Given the description of an element on the screen output the (x, y) to click on. 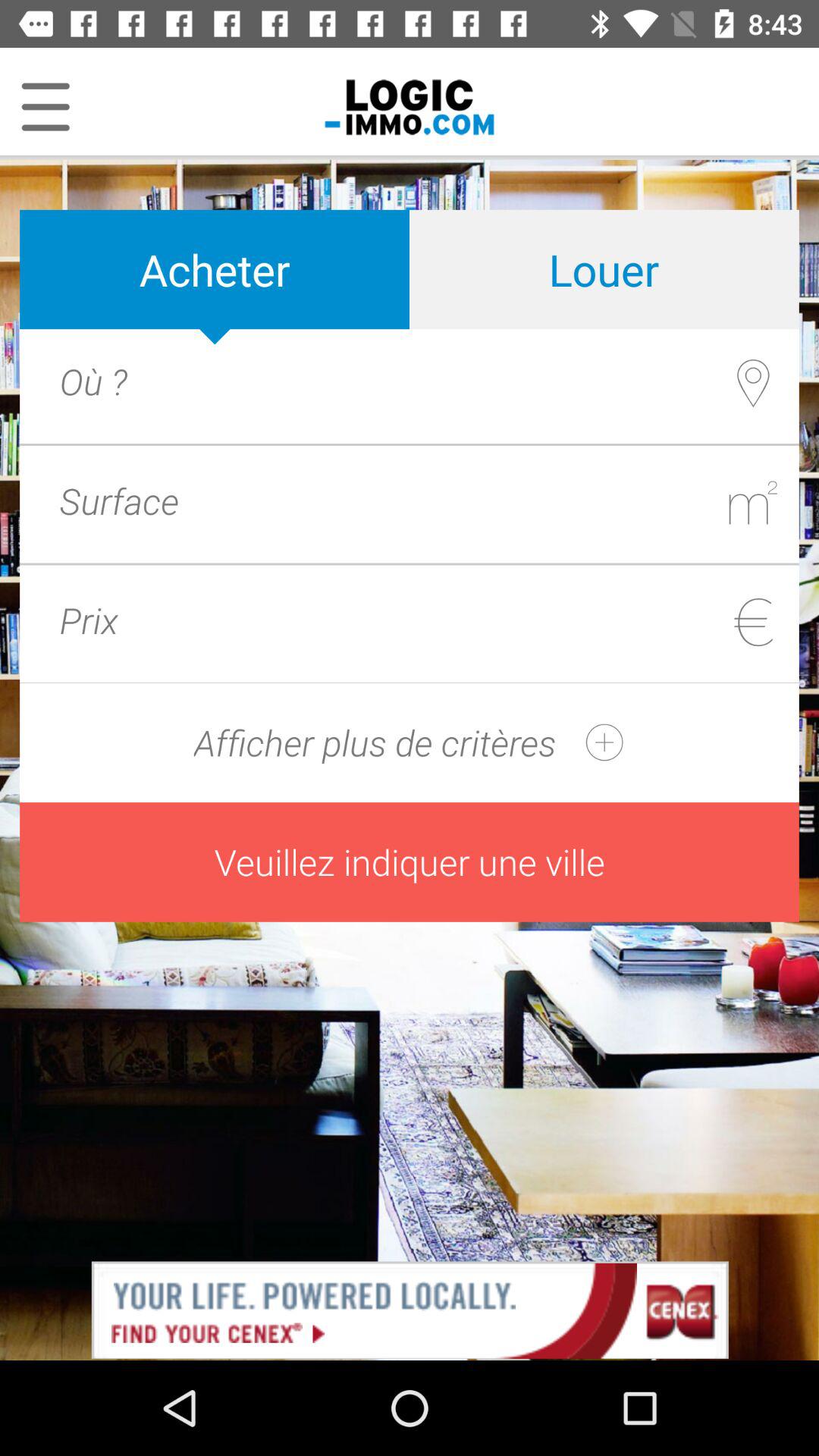
advisement (409, 1308)
